Given the description of an element on the screen output the (x, y) to click on. 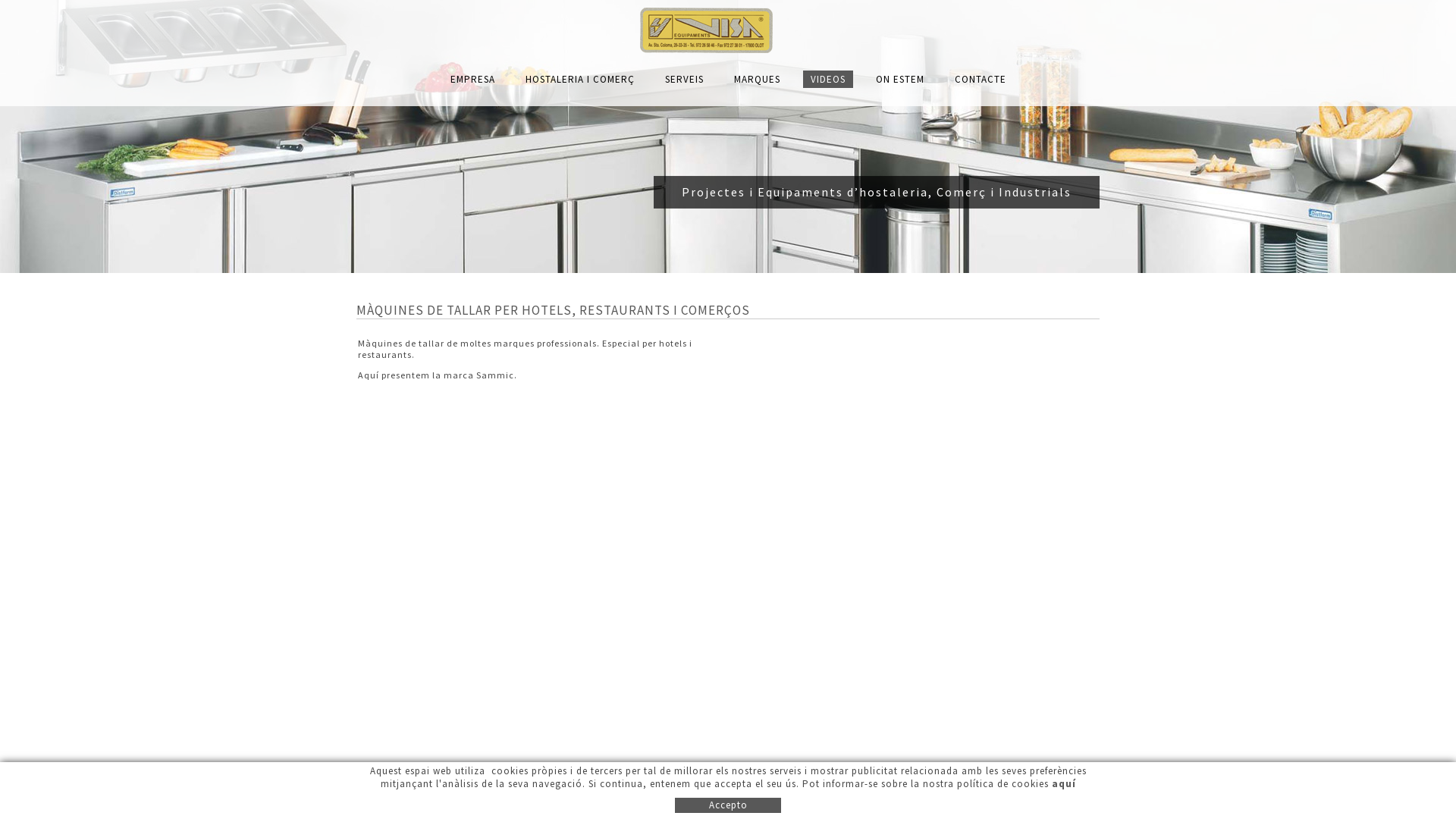
info@visaequipaments.cat Element type: text (779, 783)
SERVEIS Element type: text (683, 78)
cat Element type: text (575, 806)
EMPRESA Element type: text (472, 78)
CONTACTE Element type: text (979, 78)
esp Element type: text (549, 806)
MARQUES Element type: text (756, 78)
ON ESTEM Element type: text (899, 78)
VIDEOS Element type: text (827, 78)
GPI Software - Internet & Web Solutions Element type: hover (1072, 810)
